Given the description of an element on the screen output the (x, y) to click on. 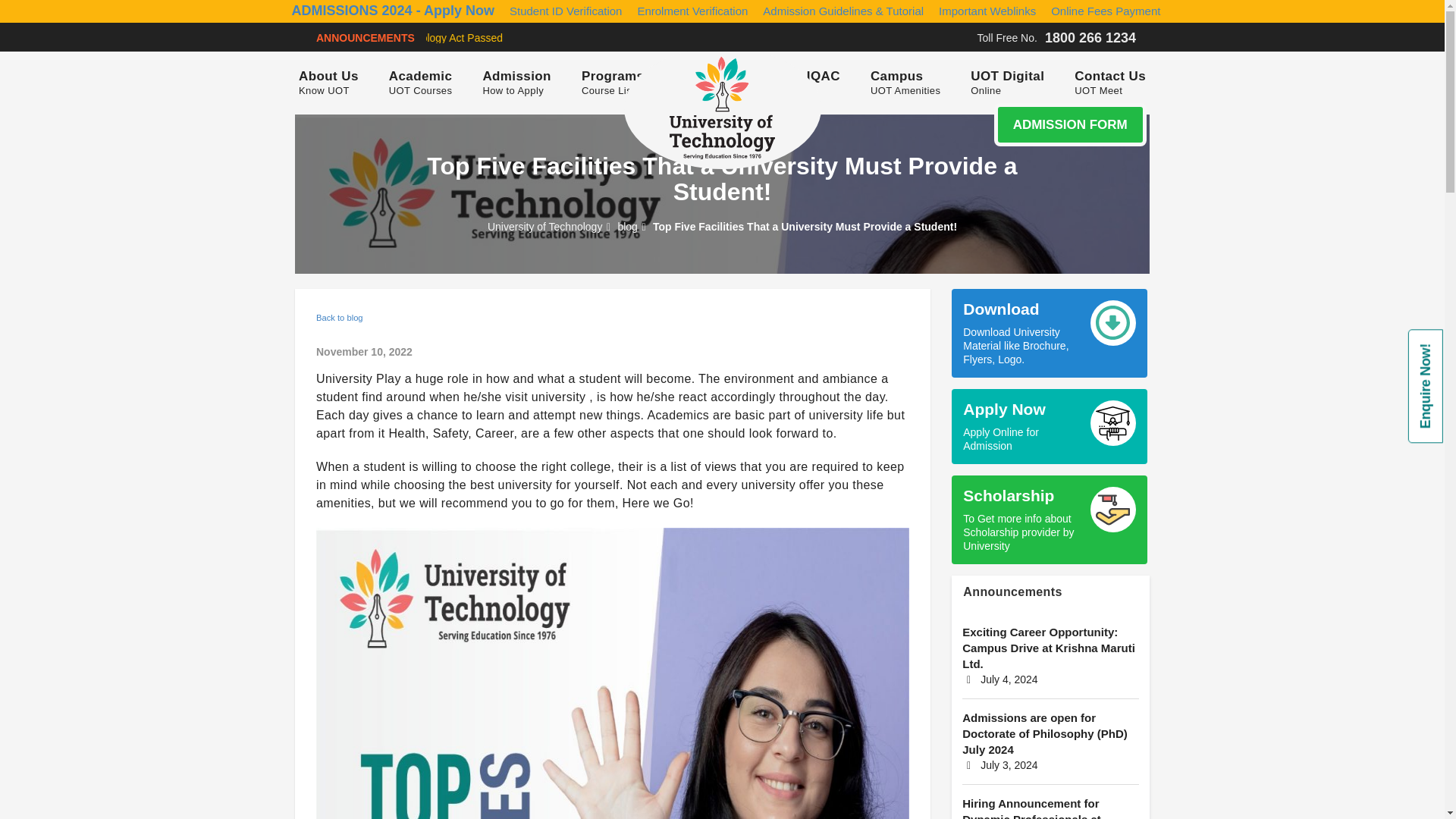
    ADMISSIONS 2024 - Apply Now   (389, 10)
Online Fees Payment (1105, 10)
Student ID Verification (565, 10)
Important Weblinks (987, 10)
Go to University of Technology. (544, 226)
Go to the blog category archives. (627, 226)
Enrolment Verification (692, 10)
